Given the description of an element on the screen output the (x, y) to click on. 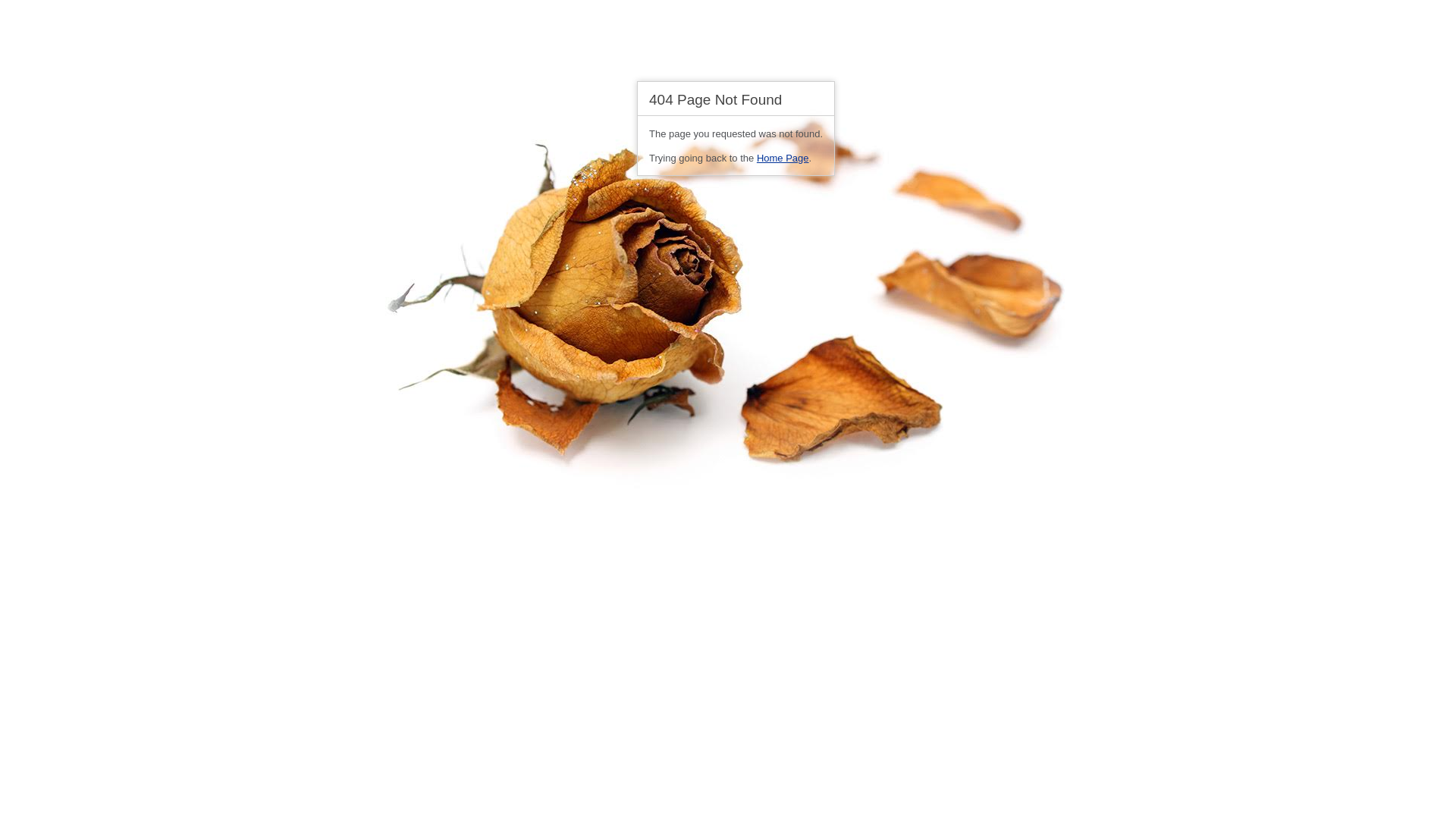
Home Page Element type: text (782, 157)
